Given the description of an element on the screen output the (x, y) to click on. 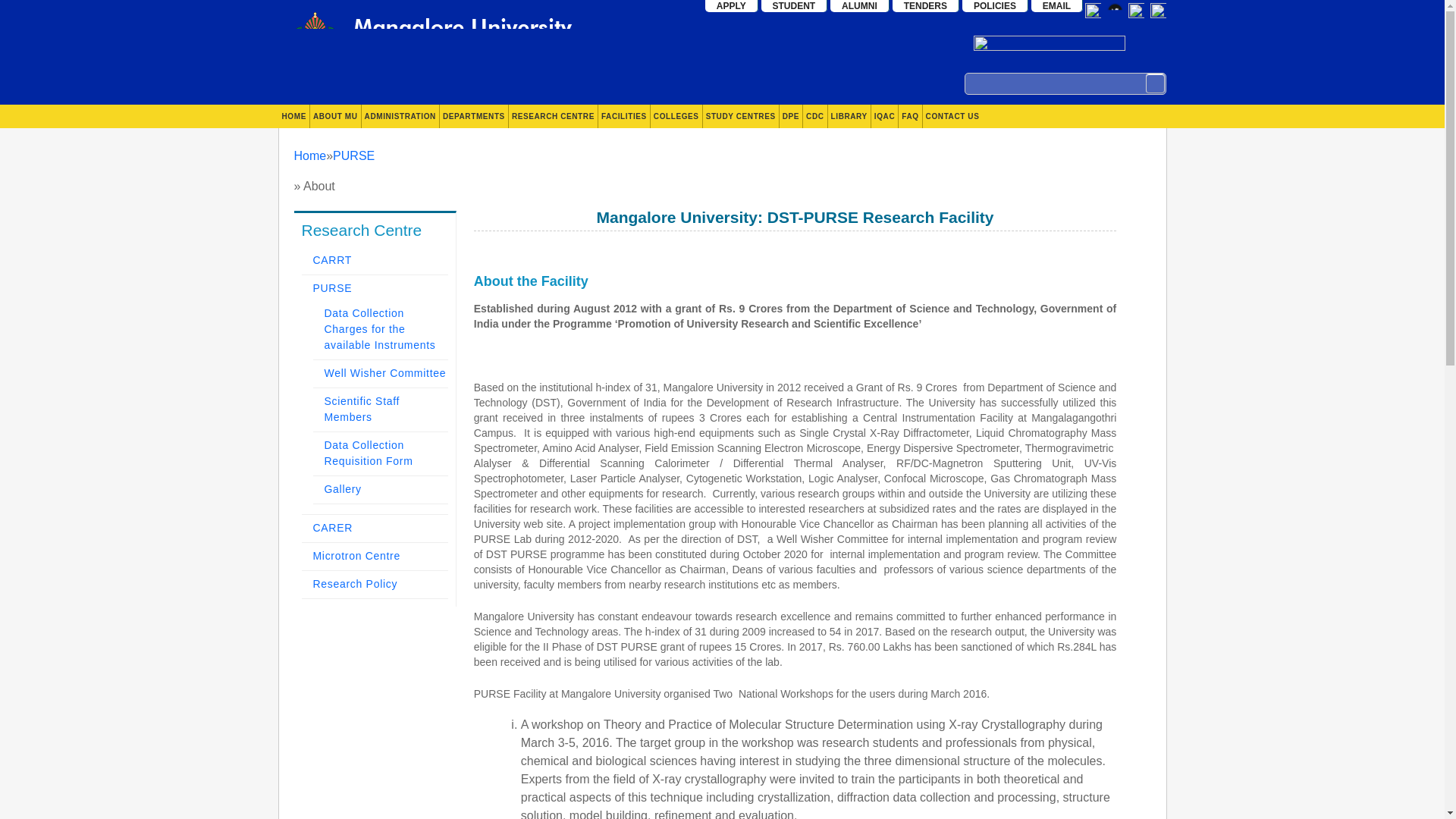
ALUMNI (859, 6)
STUDENT (794, 6)
Search (1153, 83)
Search (1153, 83)
EMAIL (1056, 6)
ADMINISTRATION (400, 115)
TENDERS (925, 6)
DEPARTMENTS (473, 115)
Mangalore University (435, 42)
POLICIES (994, 6)
Enter the terms you wish to search for. (1064, 83)
ABOUT MU (335, 115)
HOME (293, 115)
APPLY (731, 6)
